Given the description of an element on the screen output the (x, y) to click on. 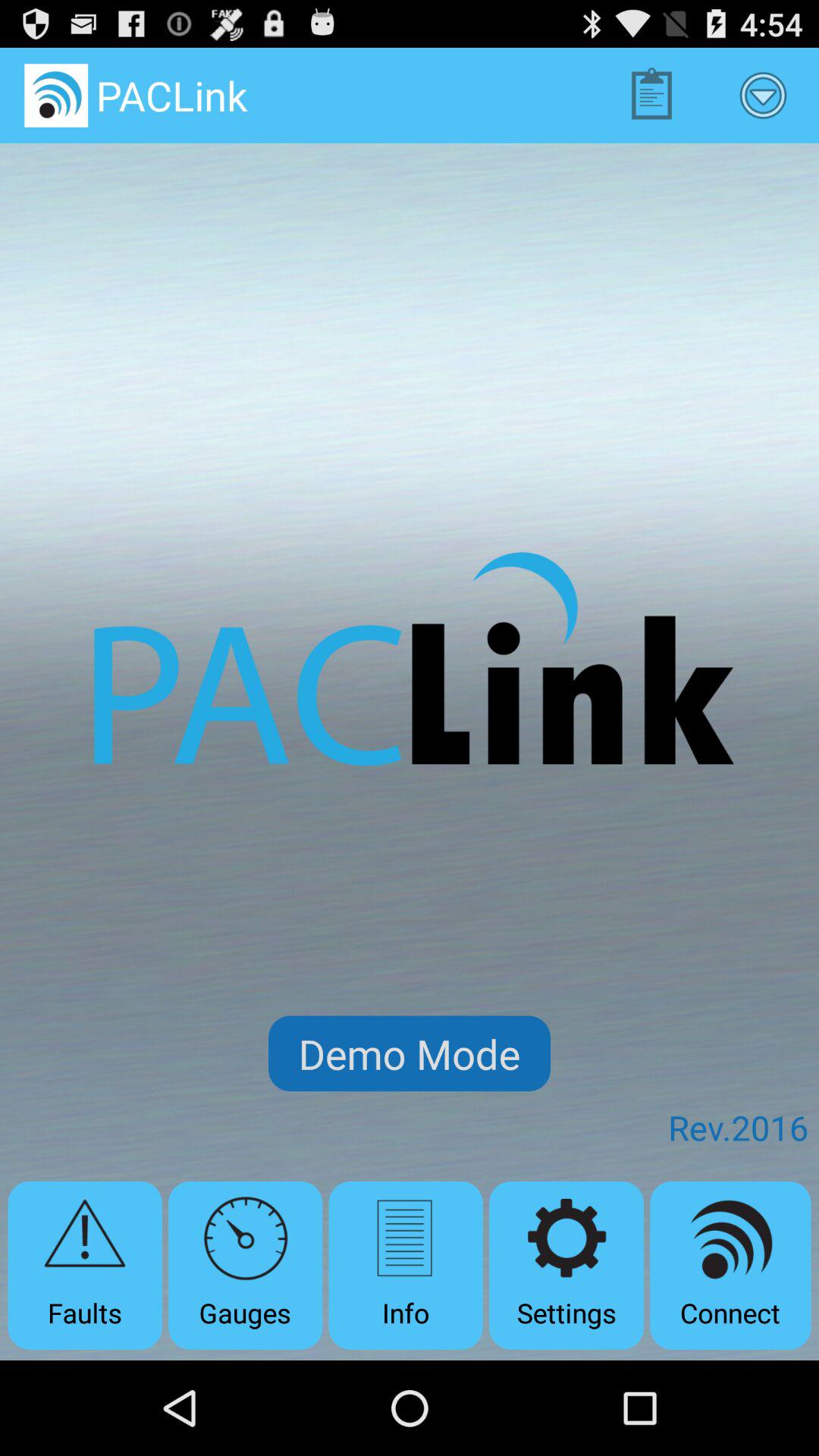
flip to the settings item (566, 1265)
